Given the description of an element on the screen output the (x, y) to click on. 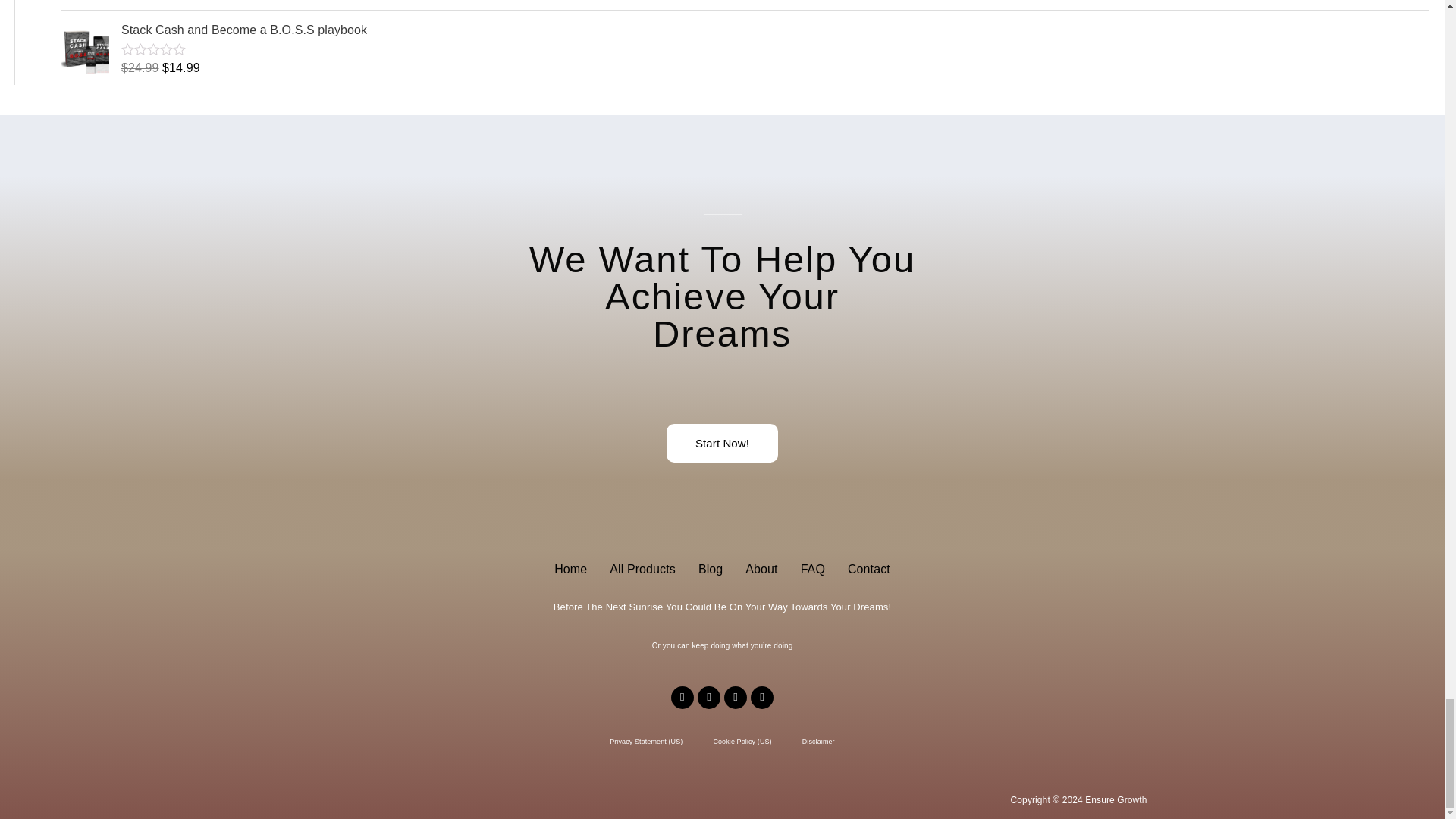
Blog (710, 569)
All Products (642, 569)
Home (570, 569)
Stack Cash and Become a B.O.S.S playbook (774, 30)
FAQ (812, 569)
Start Now! (721, 443)
Contact (868, 569)
About (761, 569)
